Given the description of an element on the screen output the (x, y) to click on. 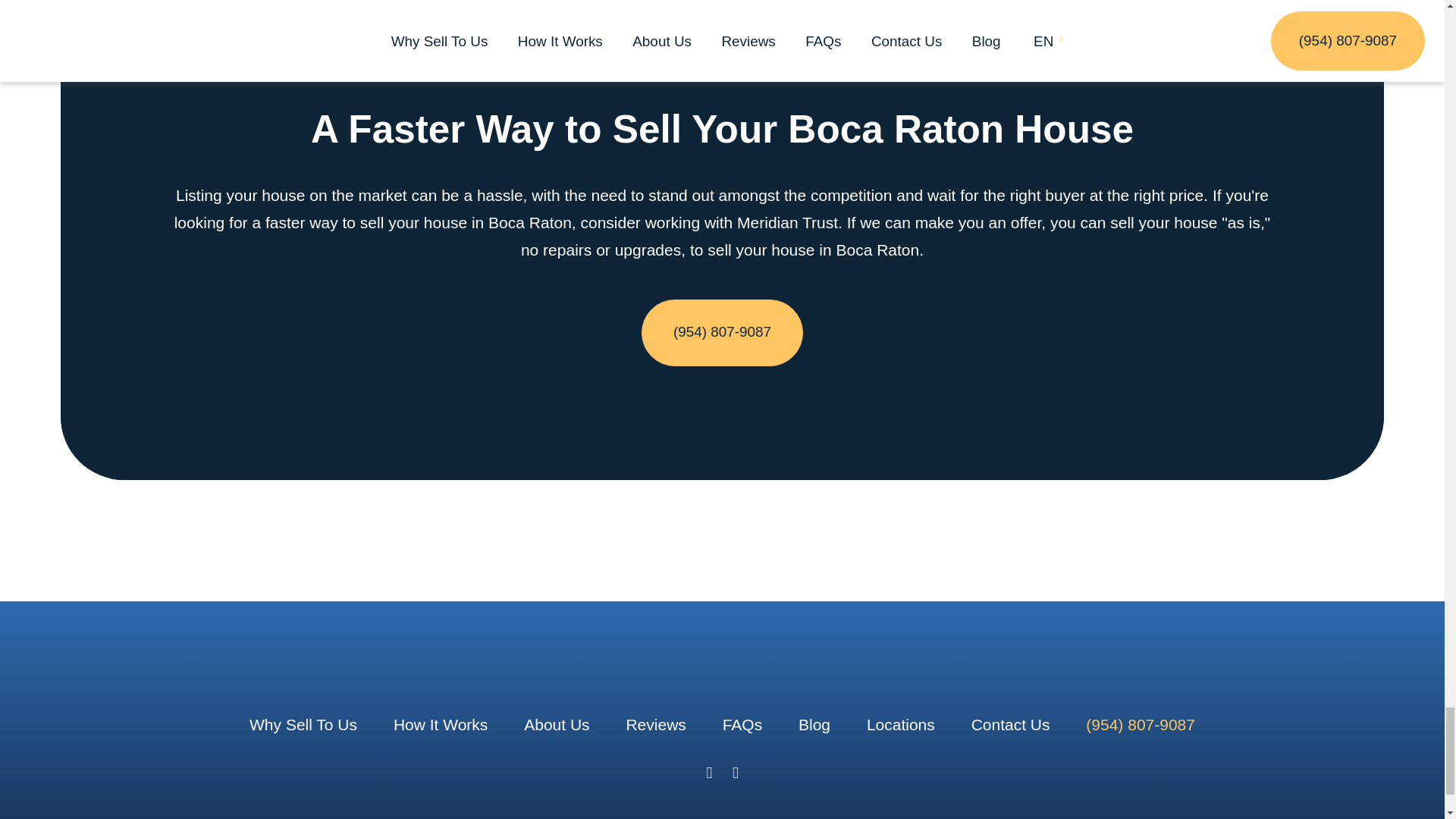
Contact Us (1010, 724)
Locations (900, 724)
Why Sell To Us (302, 724)
Meridian Trust (721, 683)
FAQs (742, 724)
About Us (556, 724)
Blog (813, 724)
How It Works (440, 724)
Reviews (655, 724)
